Given the description of an element on the screen output the (x, y) to click on. 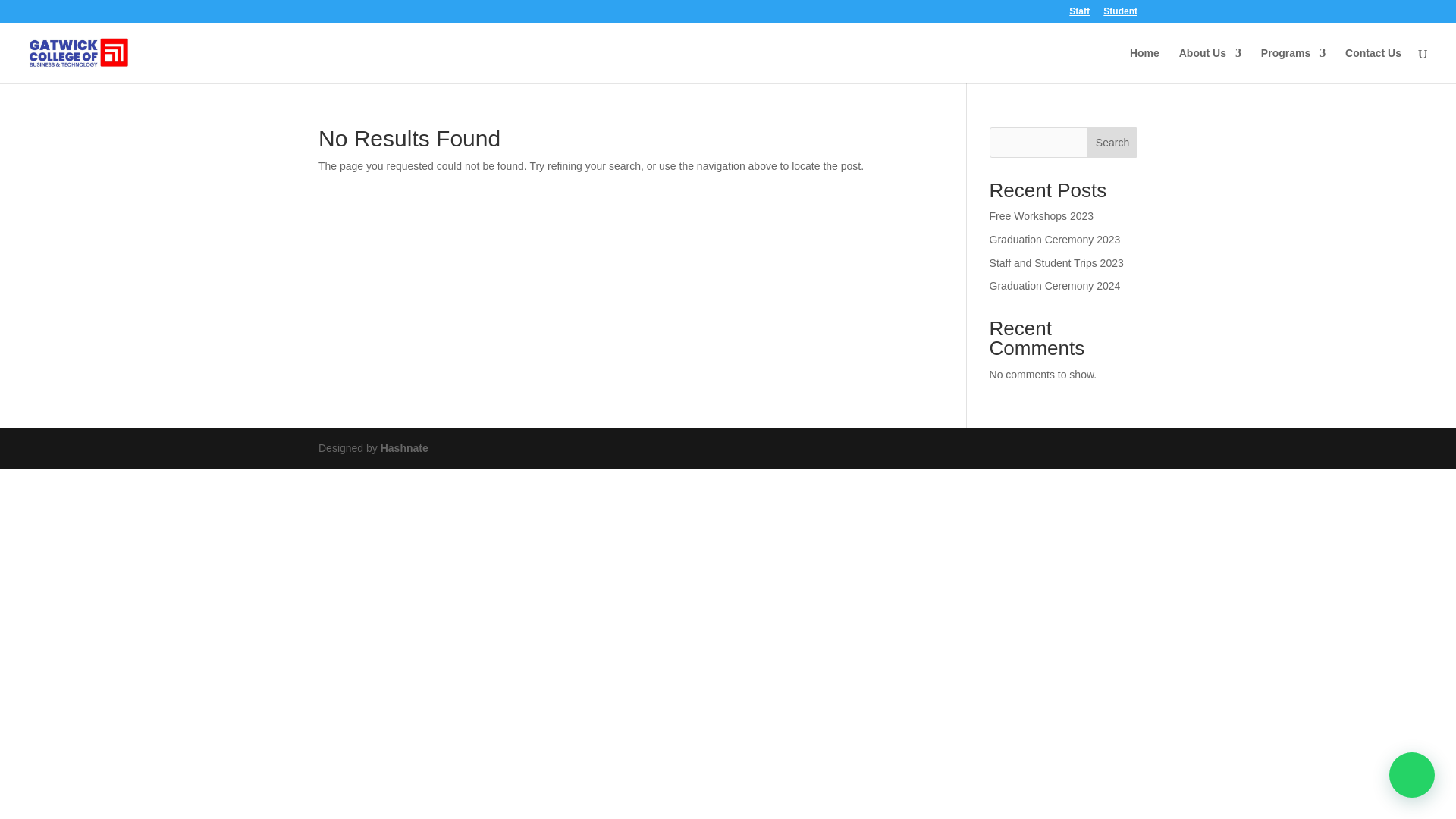
Staff (1078, 14)
Contact Us (1372, 65)
Programs (1292, 65)
Student (1120, 14)
Home (1143, 65)
About Us (1210, 65)
